Given the description of an element on the screen output the (x, y) to click on. 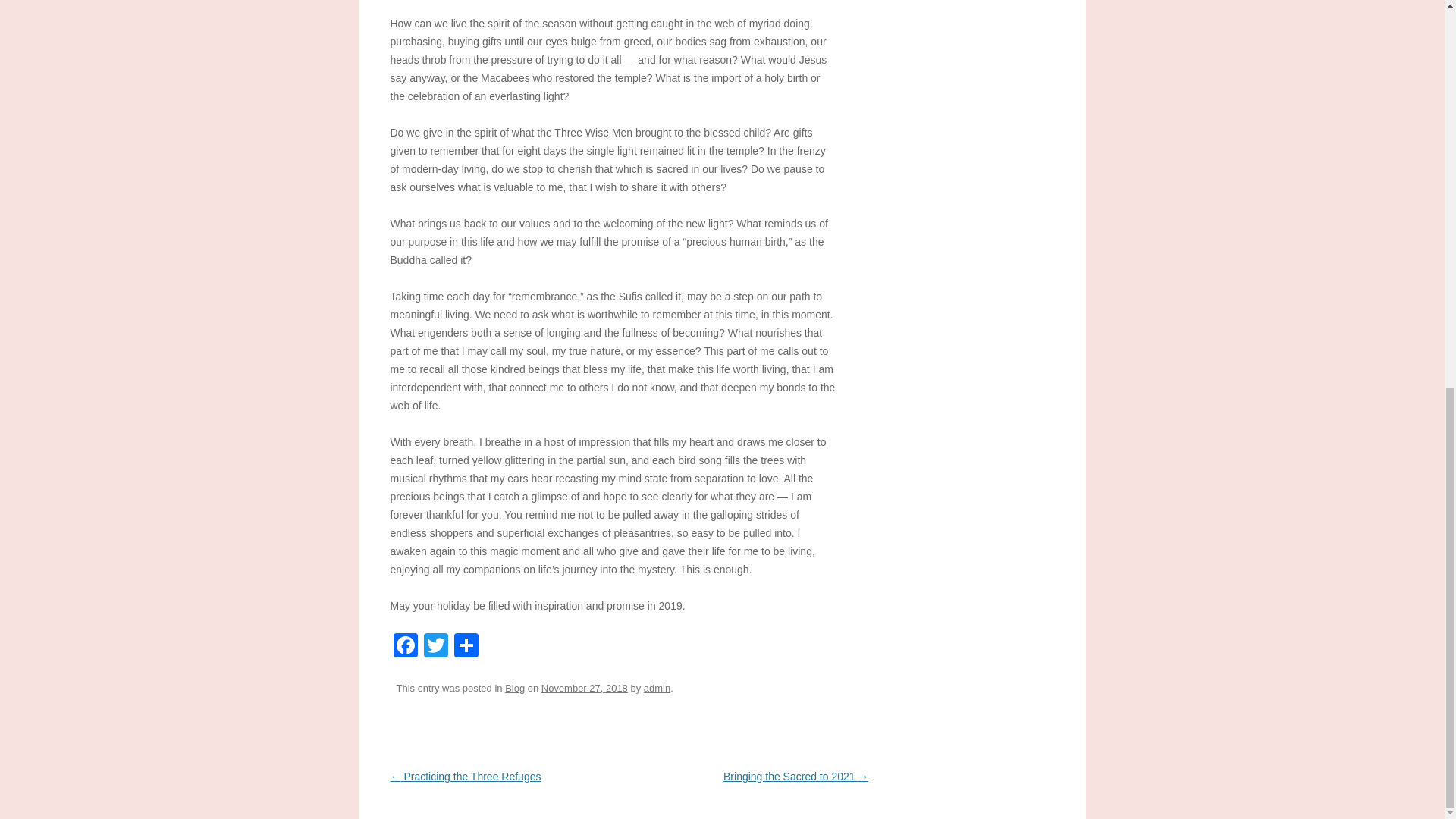
Blog (514, 687)
Share (464, 646)
Twitter (434, 646)
6:50 am (584, 687)
Facebook (405, 646)
Facebook (405, 646)
November 27, 2018 (584, 687)
View all posts by admin (656, 687)
admin (656, 687)
Twitter (434, 646)
